Given the description of an element on the screen output the (x, y) to click on. 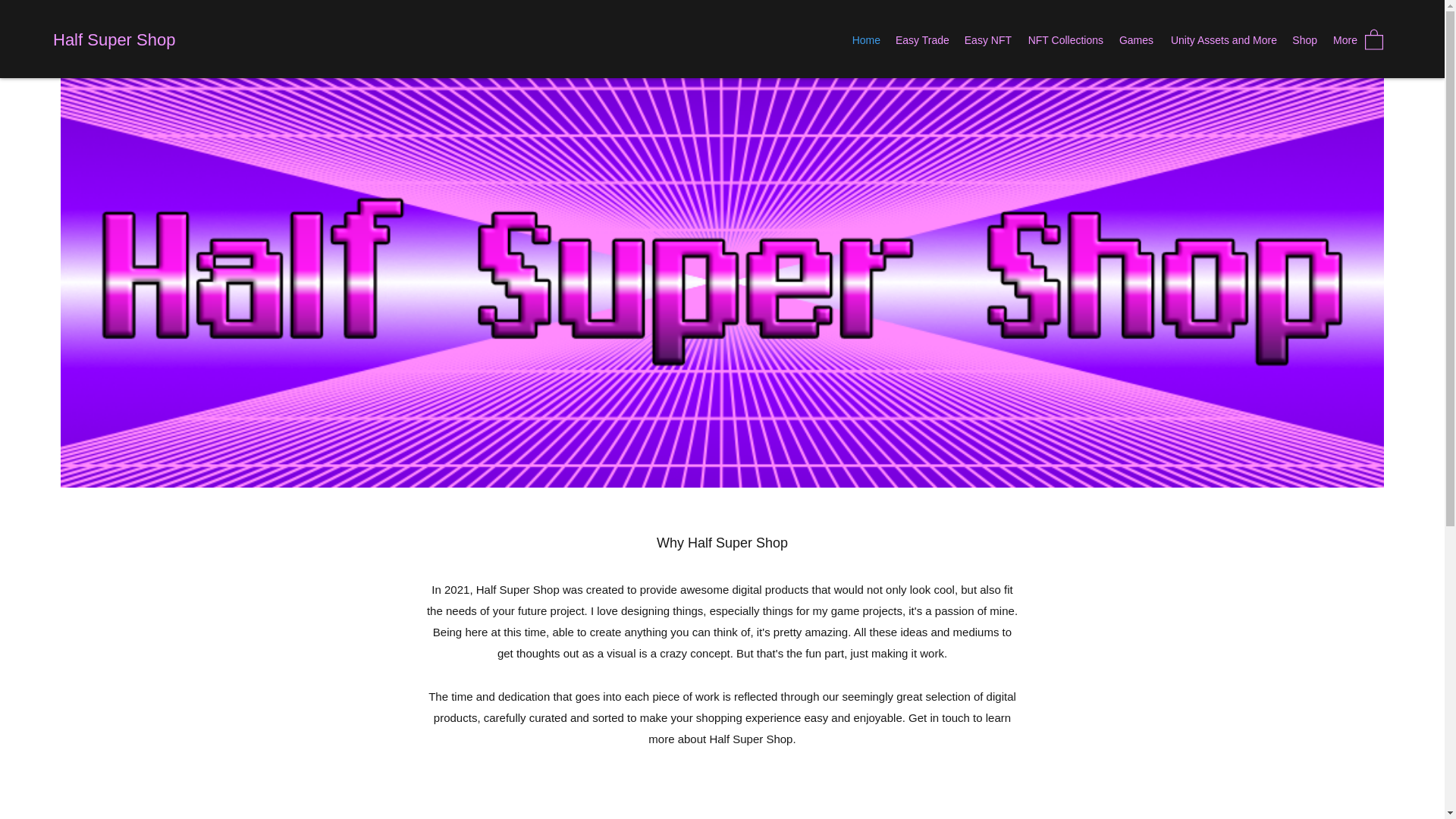
Unity Assets and More (1222, 39)
Easy Trade (922, 39)
Half Super Shop (113, 39)
Home (866, 39)
Shop (1304, 39)
Easy NFT (987, 39)
